Given the description of an element on the screen output the (x, y) to click on. 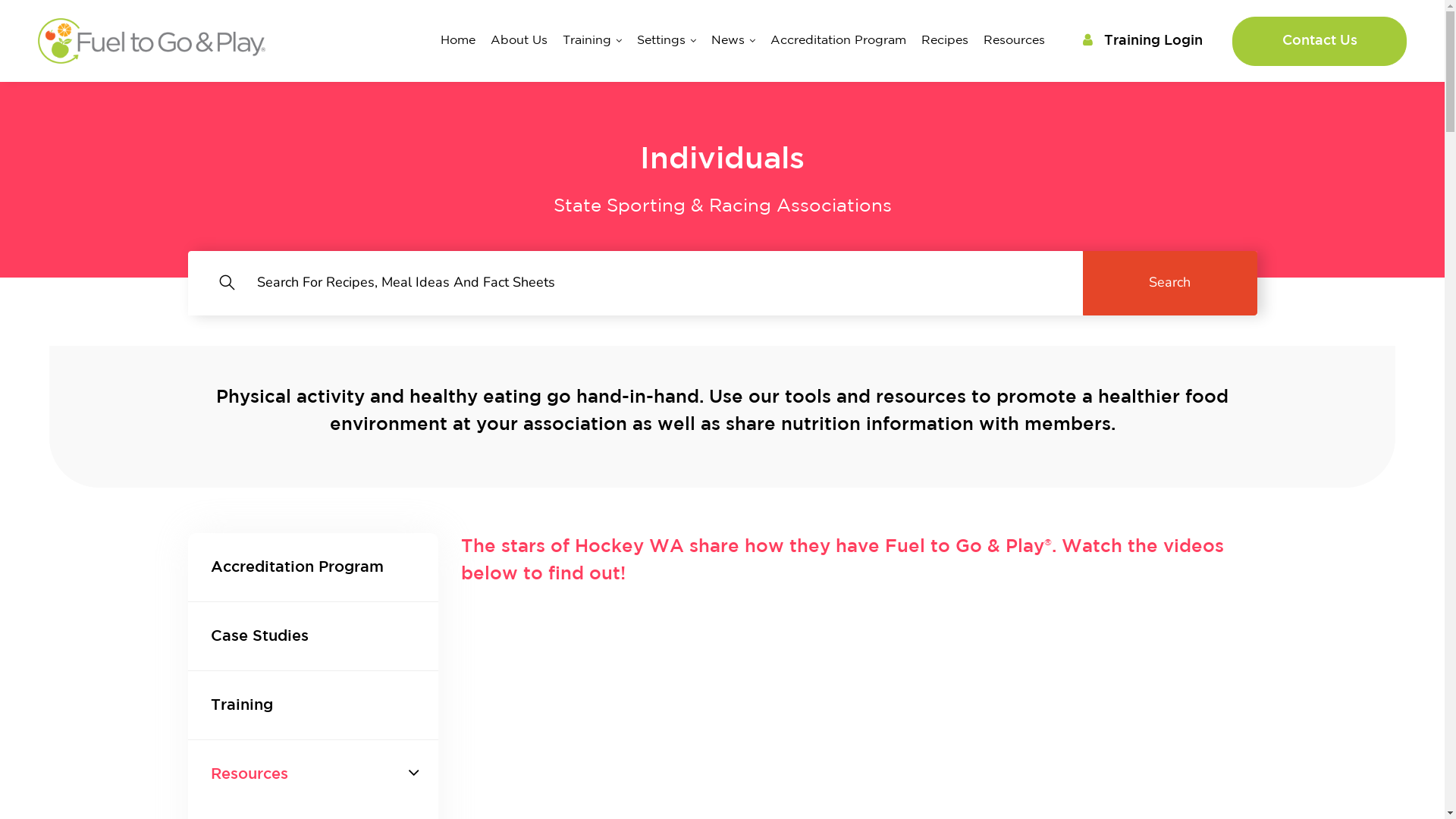
Settings Element type: text (666, 40)
Training Element type: text (592, 40)
Accreditation Program Element type: text (837, 40)
Resources Element type: text (1013, 40)
Resources Element type: text (313, 774)
Search For Recipes, Meal Ideas And Fact Sheets Element type: text (635, 283)
Training Element type: text (313, 705)
About Us Element type: text (519, 40)
Accreditation Program Element type: text (313, 567)
Contact Us Element type: text (1319, 40)
Recipes Element type: text (944, 40)
Case Studies Element type: text (313, 636)
News Element type: text (732, 40)
Home Element type: text (458, 40)
Search Element type: text (1169, 283)
Training Login Element type: text (1142, 40)
